Given the description of an element on the screen output the (x, y) to click on. 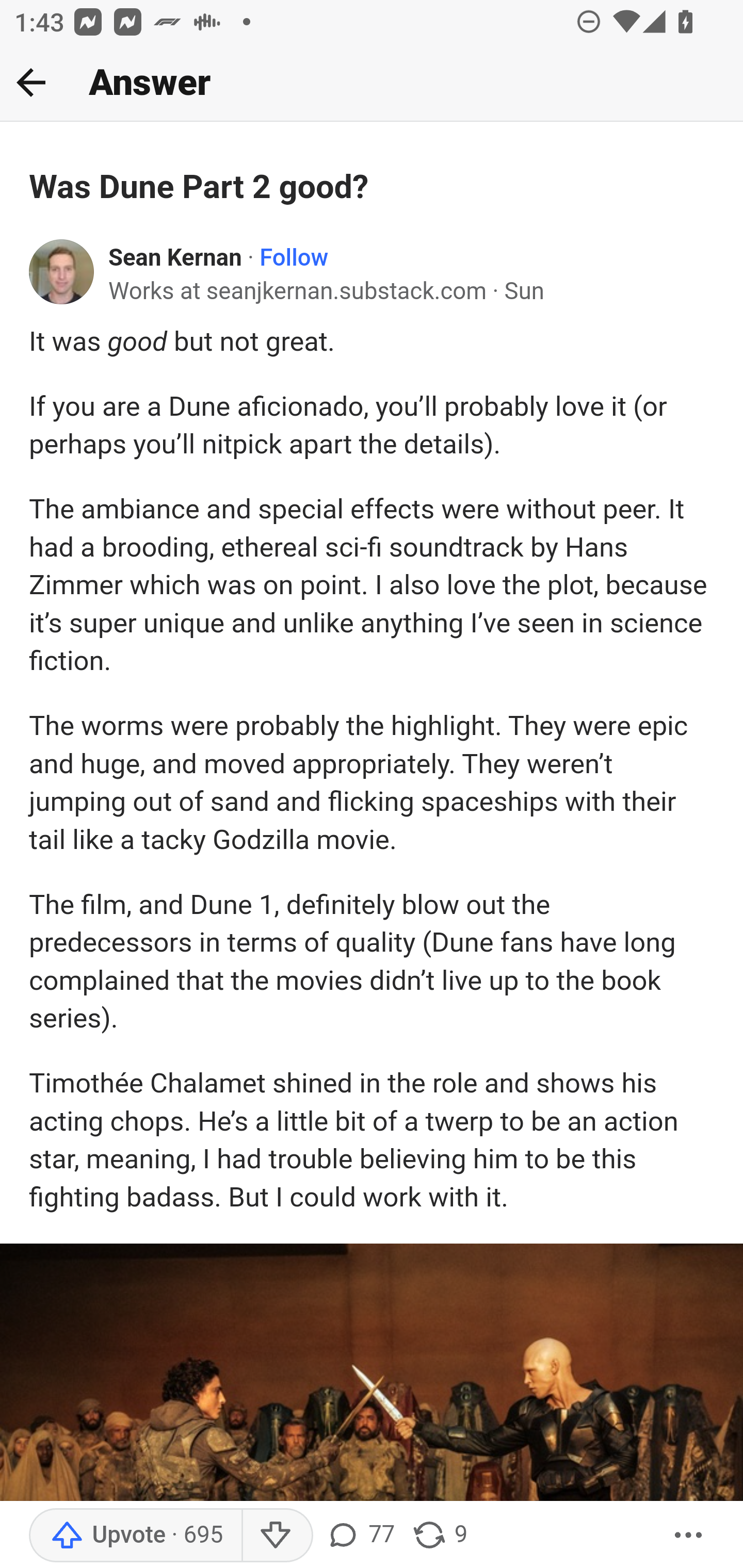
Back (30, 82)
Was Dune Part 2 good? (372, 187)
Profile photo for Sean Kernan (61, 271)
Sean Kernan (175, 257)
Follow (293, 257)
main-qimg-cccb61f29d39ea515acf9925c6e5d1be (371, 1404)
Upvote (135, 1535)
Downvote (277, 1535)
77 comments (360, 1535)
9 shares (439, 1535)
More (688, 1535)
